Given the description of an element on the screen output the (x, y) to click on. 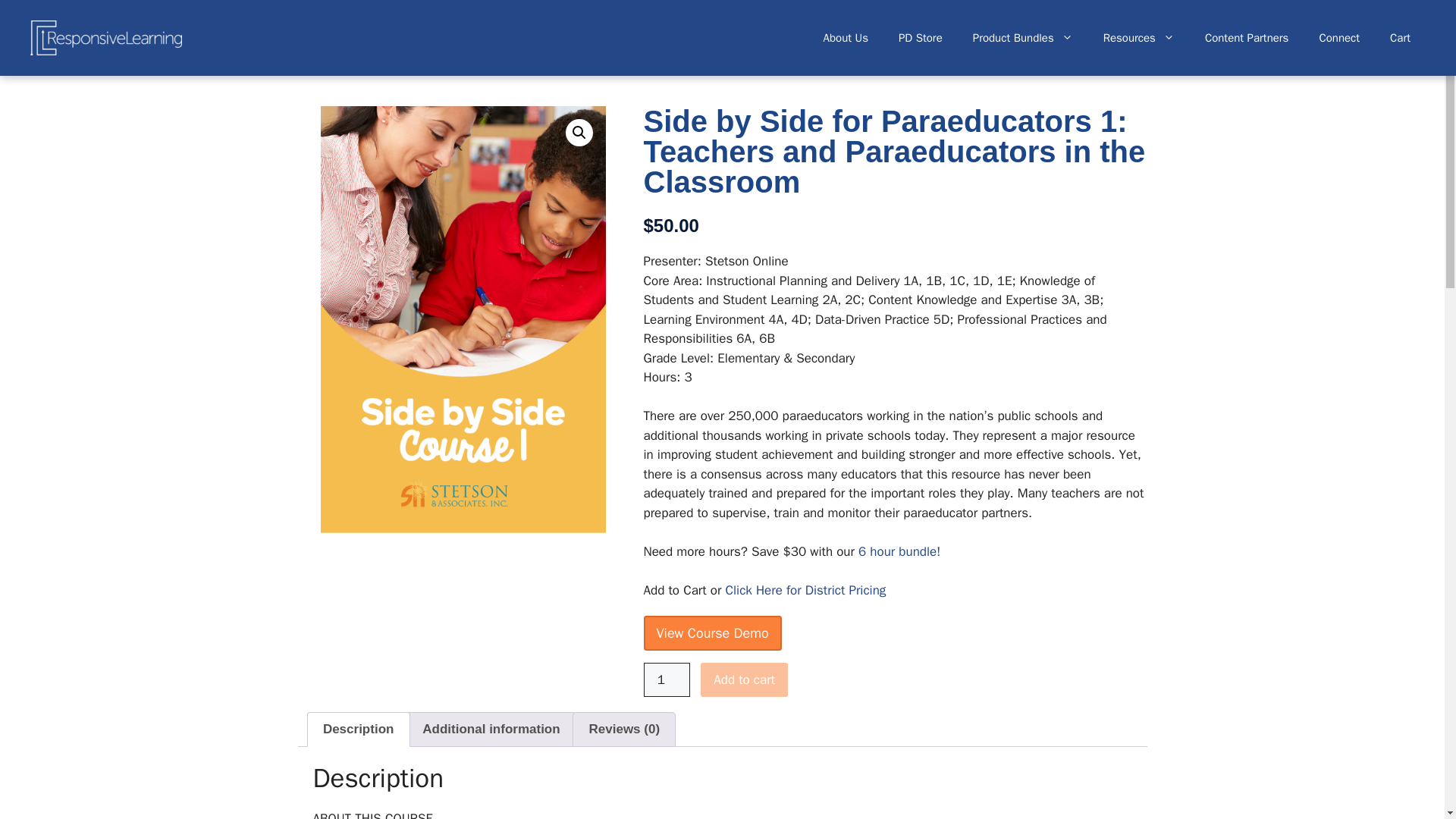
Content Partners (1246, 37)
View Course Demo (711, 632)
About Us (845, 37)
Description (358, 729)
Additional information (491, 729)
1 (666, 679)
6 hour bundle! (899, 550)
Product Bundles (1022, 37)
Click Here for District Pricing (805, 590)
Add to cart (743, 679)
